Given the description of an element on the screen output the (x, y) to click on. 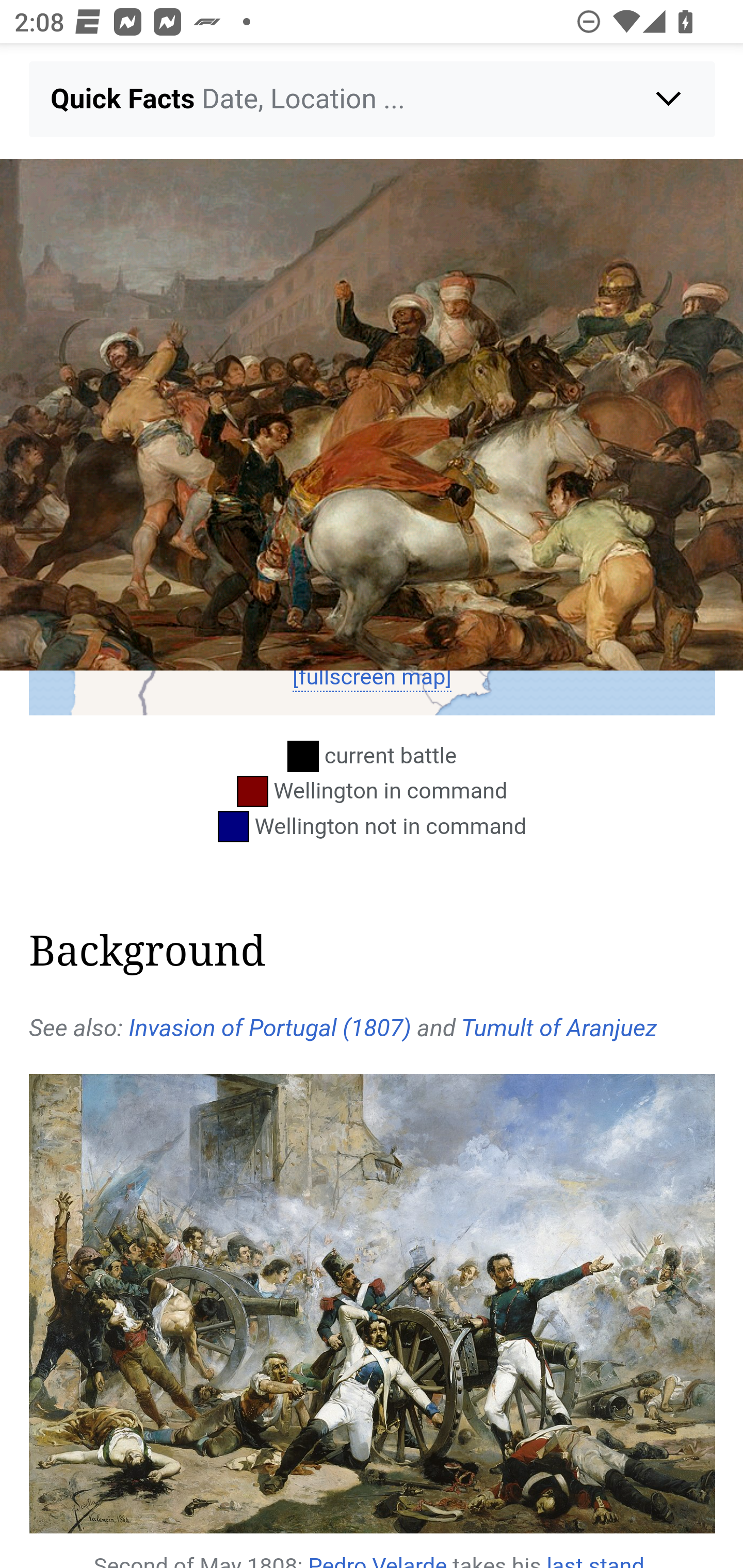
Quick Facts  Date, Location ... Expand table (372, 98)
Image: Dos de Mayo Uprising (371, 414)
[fullscreen map] (371, 677)
Invasion of Portugal (1807) (269, 1027)
Tumult of Aranjuez (559, 1027)
1280px-Dos_de_mayo%2C_por_Joaqu%C3%ADn_Sorolla (372, 1303)
